Given the description of an element on the screen output the (x, y) to click on. 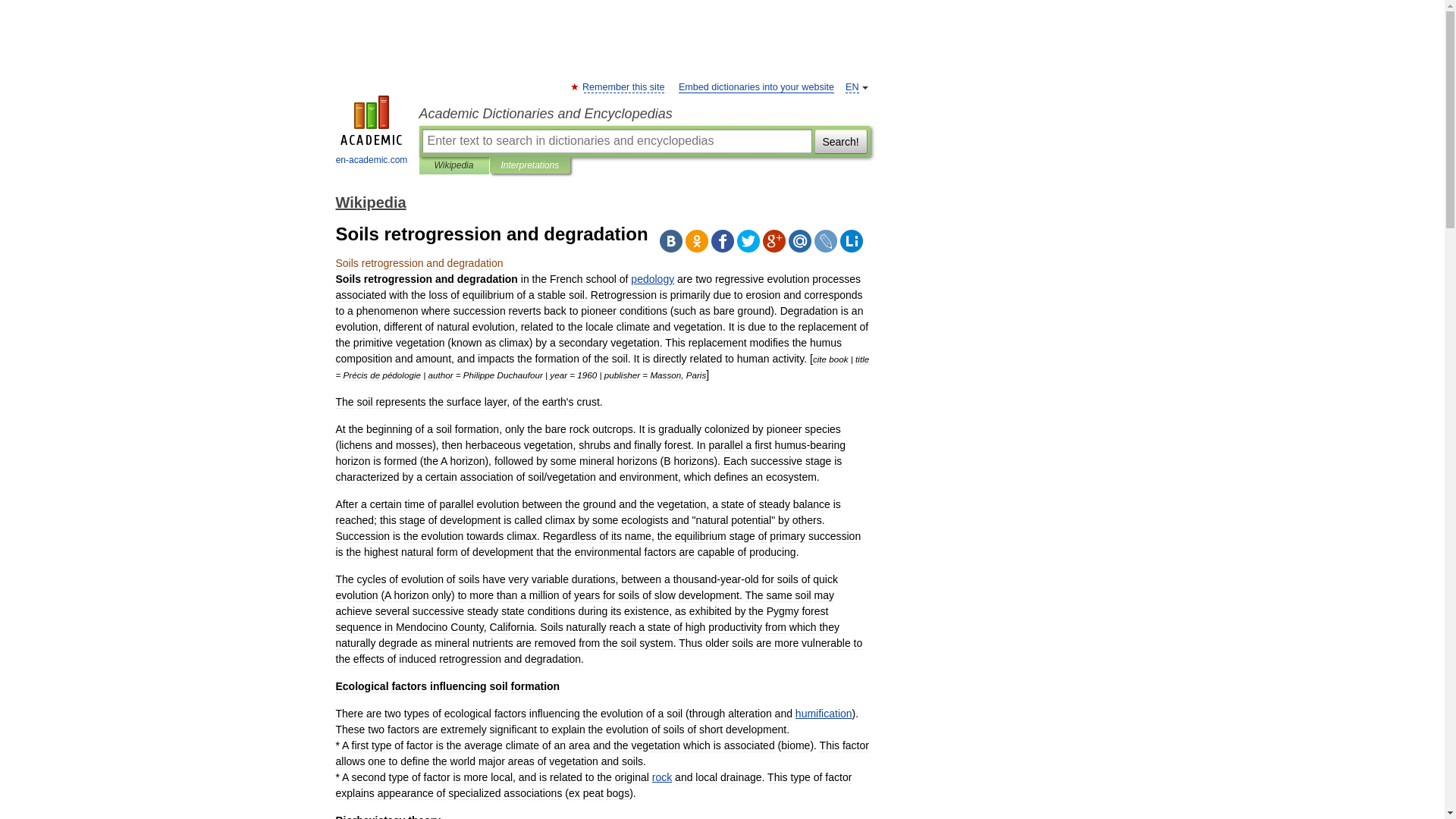
en-academic.com (371, 131)
Interpretations (529, 165)
Enter text to search in dictionaries and encyclopedias (616, 140)
rock (661, 776)
Academic Dictionaries and Encyclopedias (644, 114)
Embed dictionaries into your website (756, 87)
humification (822, 713)
EN (852, 87)
Search! (840, 140)
Wikipedia (370, 202)
